Given the description of an element on the screen output the (x, y) to click on. 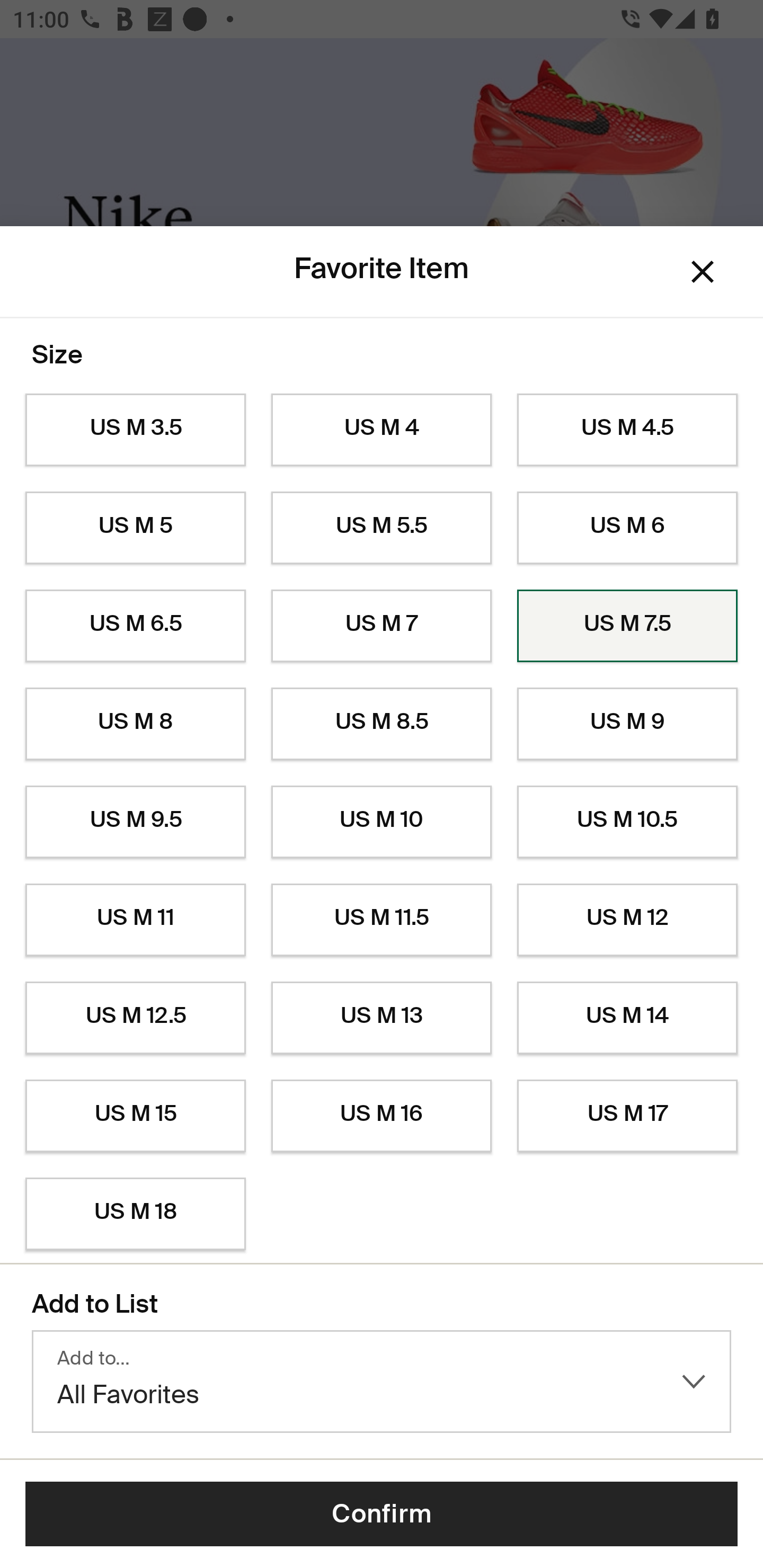
Dismiss (702, 271)
US M 3.5 (135, 430)
US M 4 (381, 430)
US M 4.5 (627, 430)
US M 5 (135, 527)
US M 5.5 (381, 527)
US M 6 (627, 527)
US M 6.5 (135, 626)
US M 7 (381, 626)
US M 7.5 (627, 626)
US M 8 (135, 724)
US M 8.5 (381, 724)
US M 9 (627, 724)
US M 9.5 (135, 822)
US M 10 (381, 822)
US M 10.5 (627, 822)
US M 11 (135, 919)
US M 11.5 (381, 919)
US M 12 (627, 919)
US M 12.5 (135, 1018)
US M 13 (381, 1018)
US M 14 (627, 1018)
US M 15 (135, 1116)
US M 16 (381, 1116)
US M 17 (627, 1116)
US M 18 (135, 1214)
Add to… All Favorites (381, 1381)
Confirm (381, 1513)
